Given the description of an element on the screen output the (x, y) to click on. 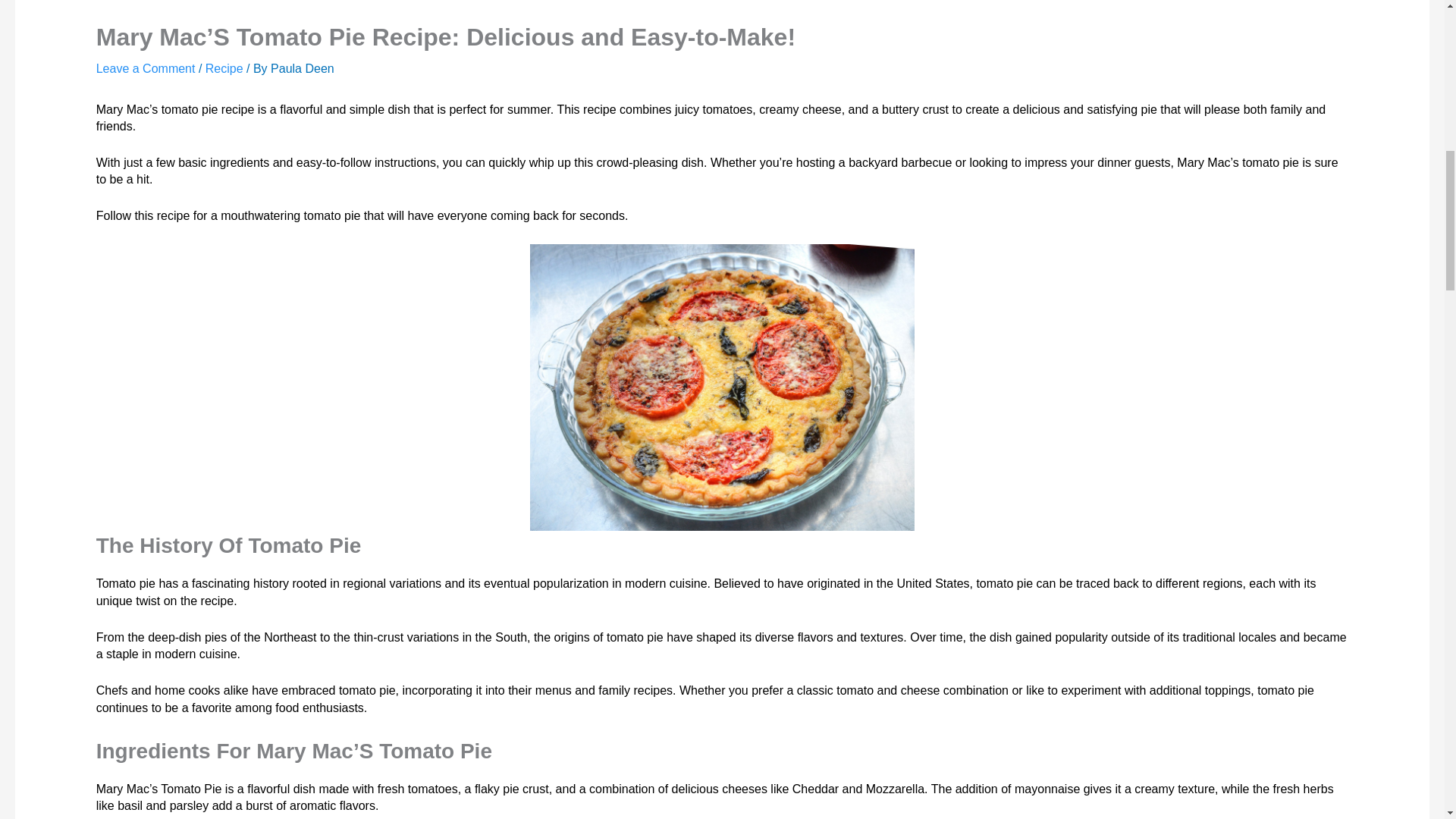
Recipe (224, 68)
View all posts by Paula Deen (302, 68)
Paula Deen (302, 68)
Leave a Comment (145, 68)
